Given the description of an element on the screen output the (x, y) to click on. 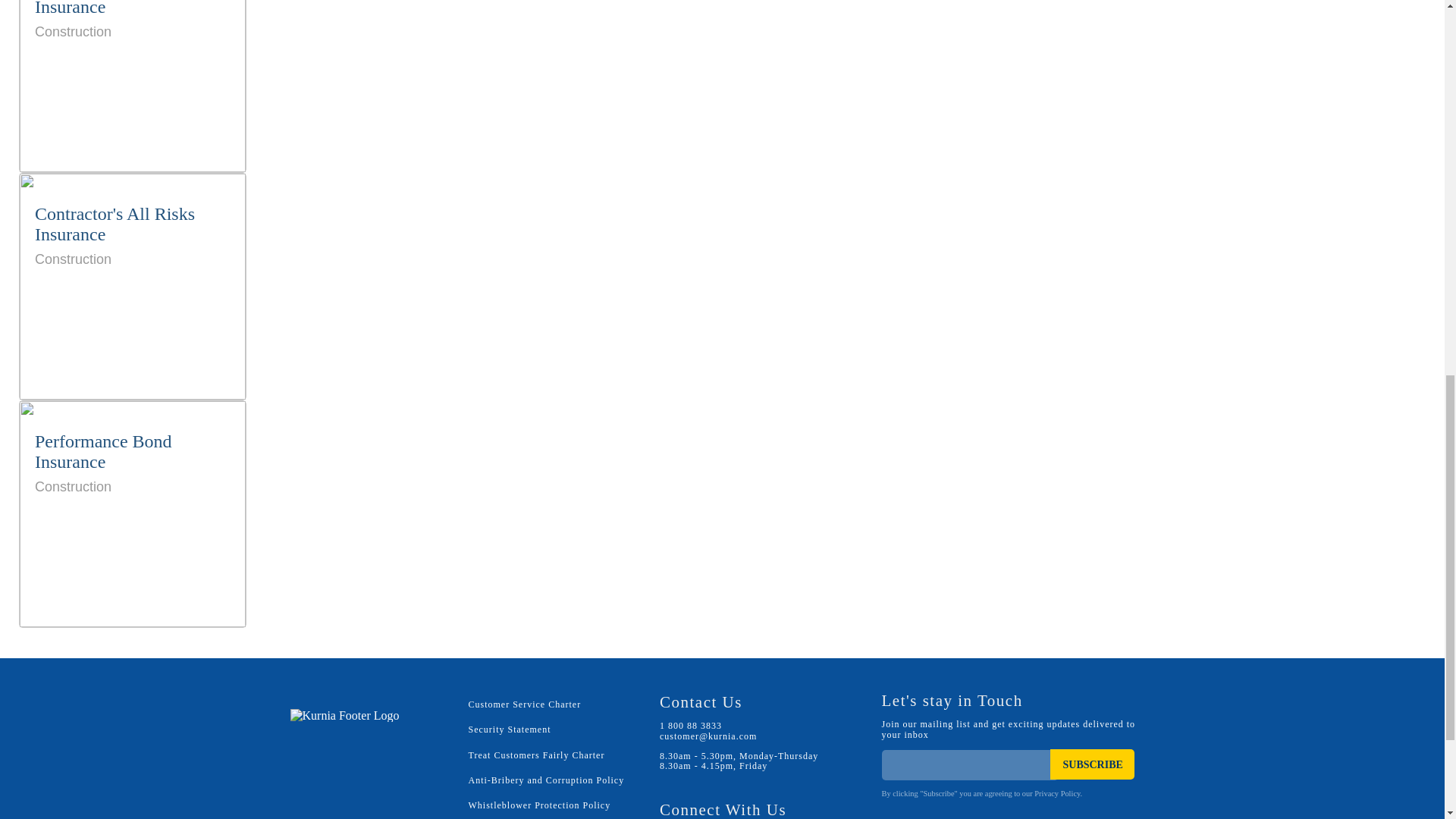
Security Statement (133, 512)
Whistleblower Protection Policy (509, 728)
Privacy Policy. (539, 805)
Treat Customers Fairly Charter (1057, 793)
Subscribe (536, 755)
Subscribe (1091, 764)
Anti-Bribery and Corruption Policy (1091, 764)
Customer Service Charter (546, 779)
